Given the description of an element on the screen output the (x, y) to click on. 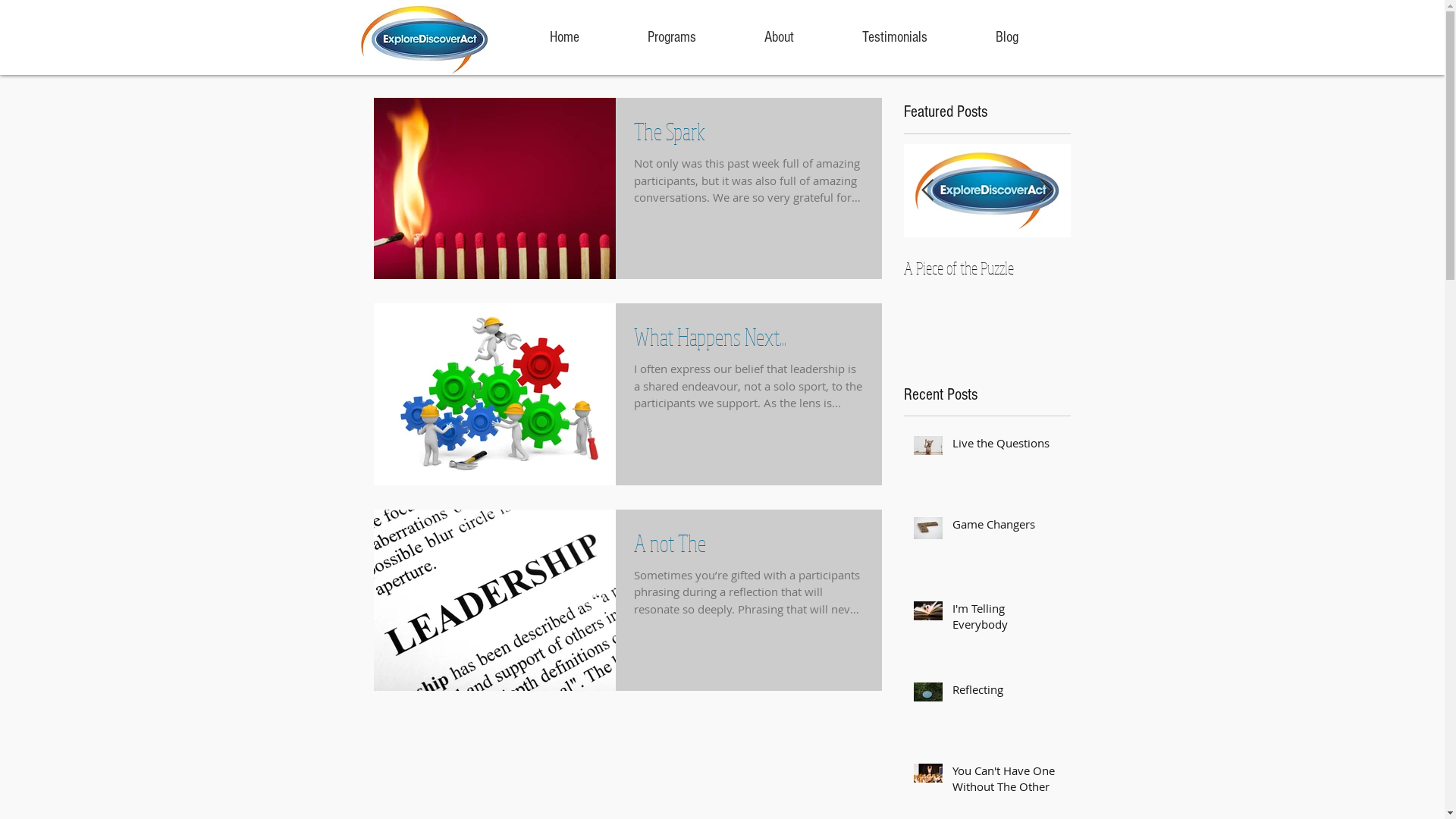
Live the Questions Element type: text (1006, 446)
Programs Element type: text (670, 37)
I'm Telling Everybody Element type: text (1006, 619)
A Piece of the Puzzle Element type: text (1153, 267)
EDA Logo 2.JPG Element type: hover (423, 39)
A not The Element type: text (748, 546)
Home Element type: text (564, 37)
The Most Challenging Part Element type: text (820, 267)
The Spark Element type: text (748, 135)
What Happens Next... Element type: text (748, 340)
Reflecting Element type: text (1006, 692)
Game Changers Element type: text (1006, 527)
Blog Element type: text (1006, 37)
Our Commitment Element type: text (986, 267)
About Element type: text (778, 37)
For Colour, Transparency Element type: text (1320, 267)
Testimonials Element type: text (894, 37)
You Can't Have One Without The Other Element type: text (1006, 781)
